Given the description of an element on the screen output the (x, y) to click on. 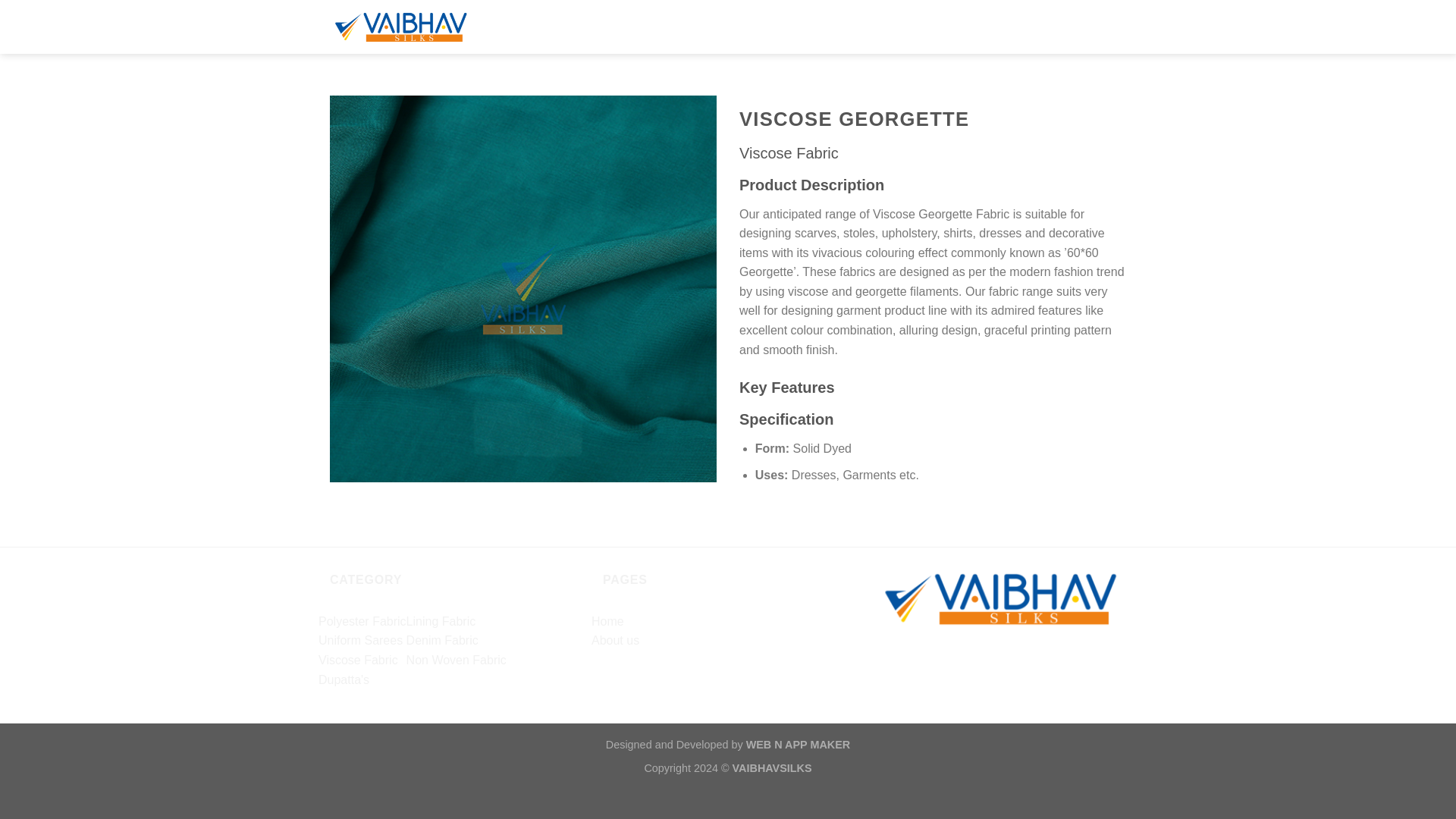
Denim Fabric (442, 640)
Viscose Fabric (357, 659)
PRODUCTS (879, 25)
WEB N APP MAKER (797, 744)
CONTACT US (964, 25)
Polyester Fabric (362, 621)
Dupatta's (343, 679)
Vaibhav Silks (425, 27)
REQUEST A QUOTE (1071, 25)
About us (615, 640)
